Given the description of an element on the screen output the (x, y) to click on. 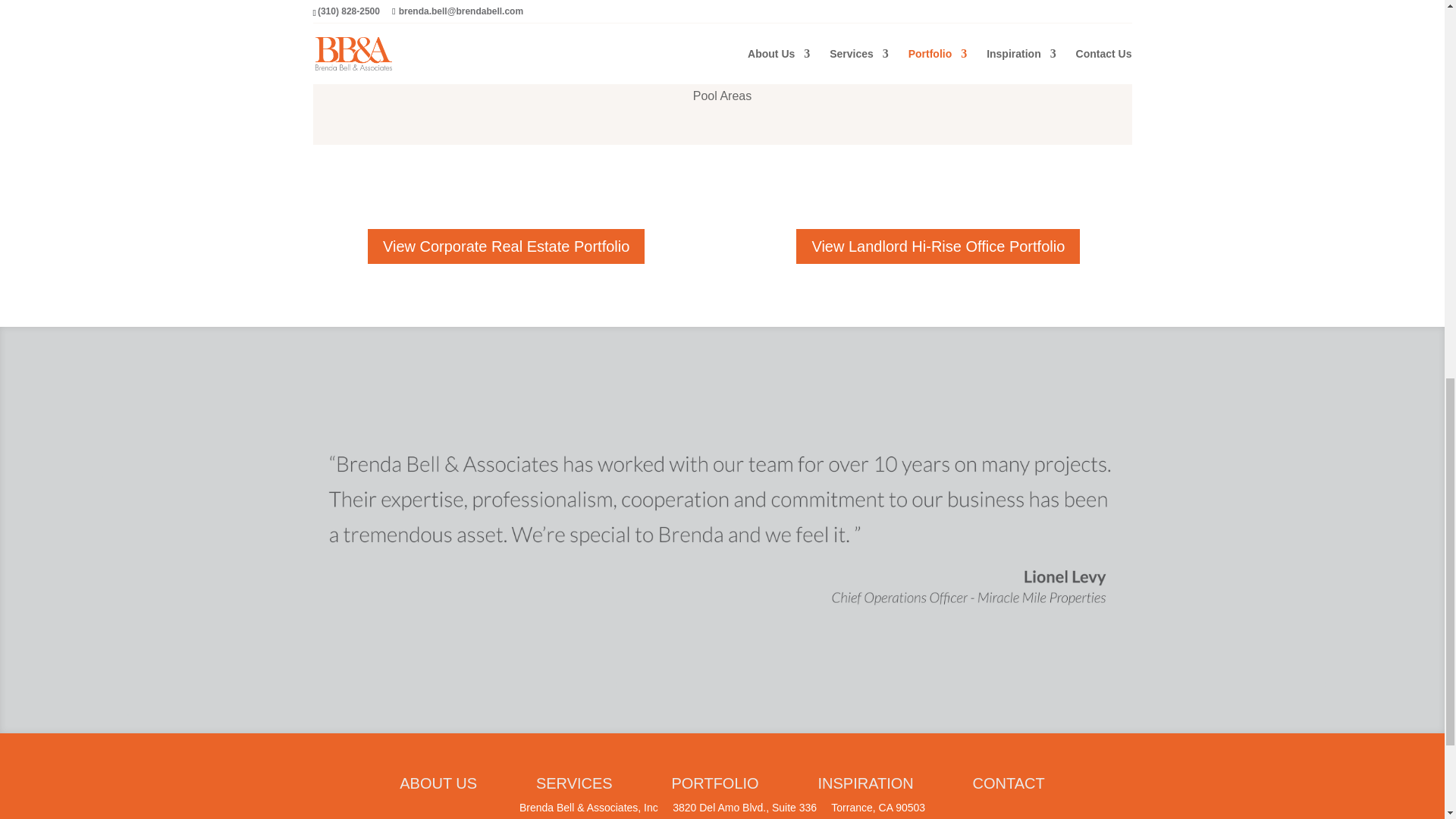
View Landlord Hi-Rise Office Portfolio (937, 246)
SERVICES (573, 782)
ABOUT US (437, 782)
            INSPIRATION (840, 782)
PORTFOLIO (714, 782)
View Corporate Real Estate Portfolio (506, 246)
